Given the description of an element on the screen output the (x, y) to click on. 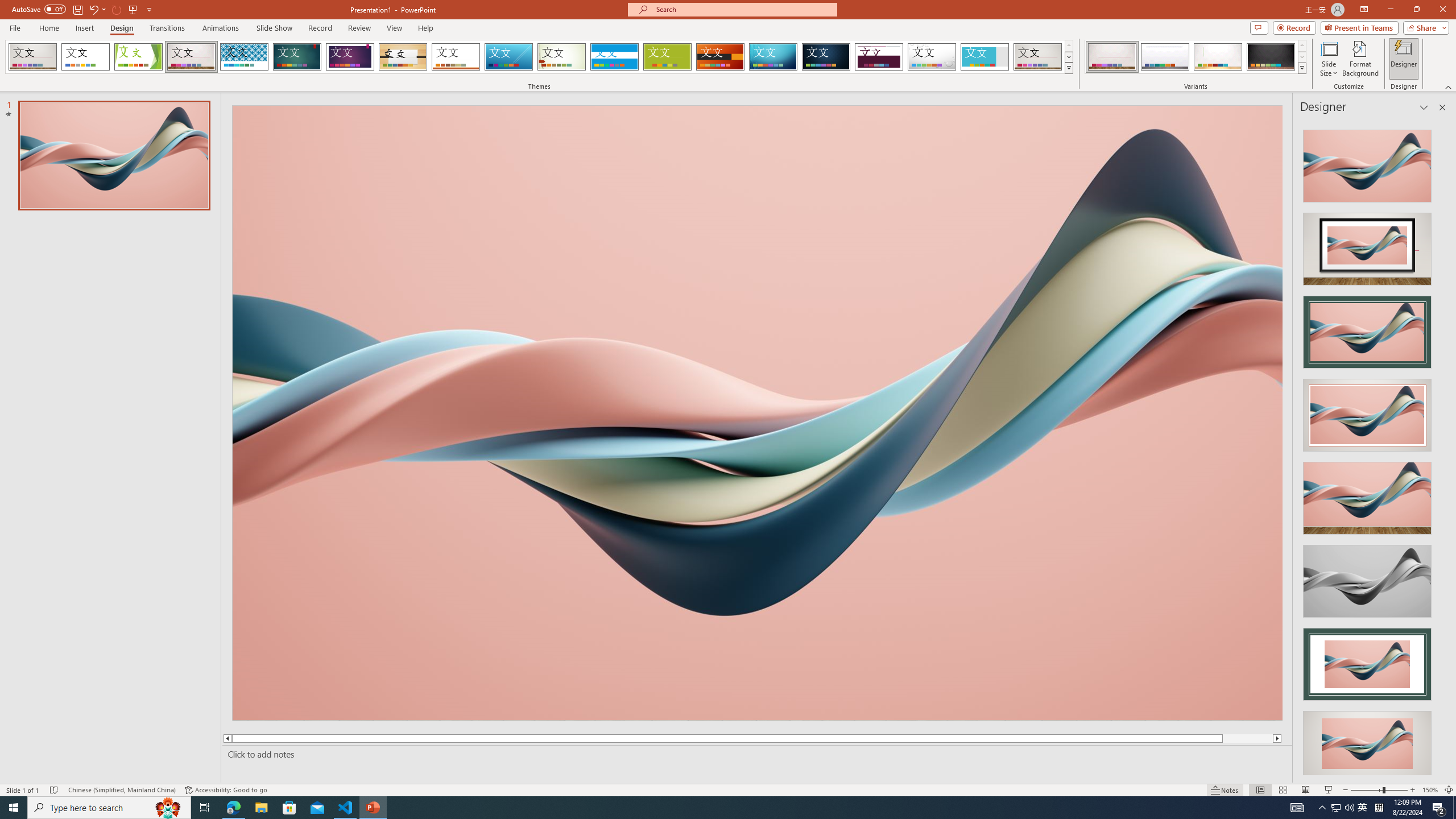
Organic (403, 56)
Gallery Variant 2 (1164, 56)
Ion Boardroom (350, 56)
AutomationID: SlideThemesGallery (539, 56)
